Given the description of an element on the screen output the (x, y) to click on. 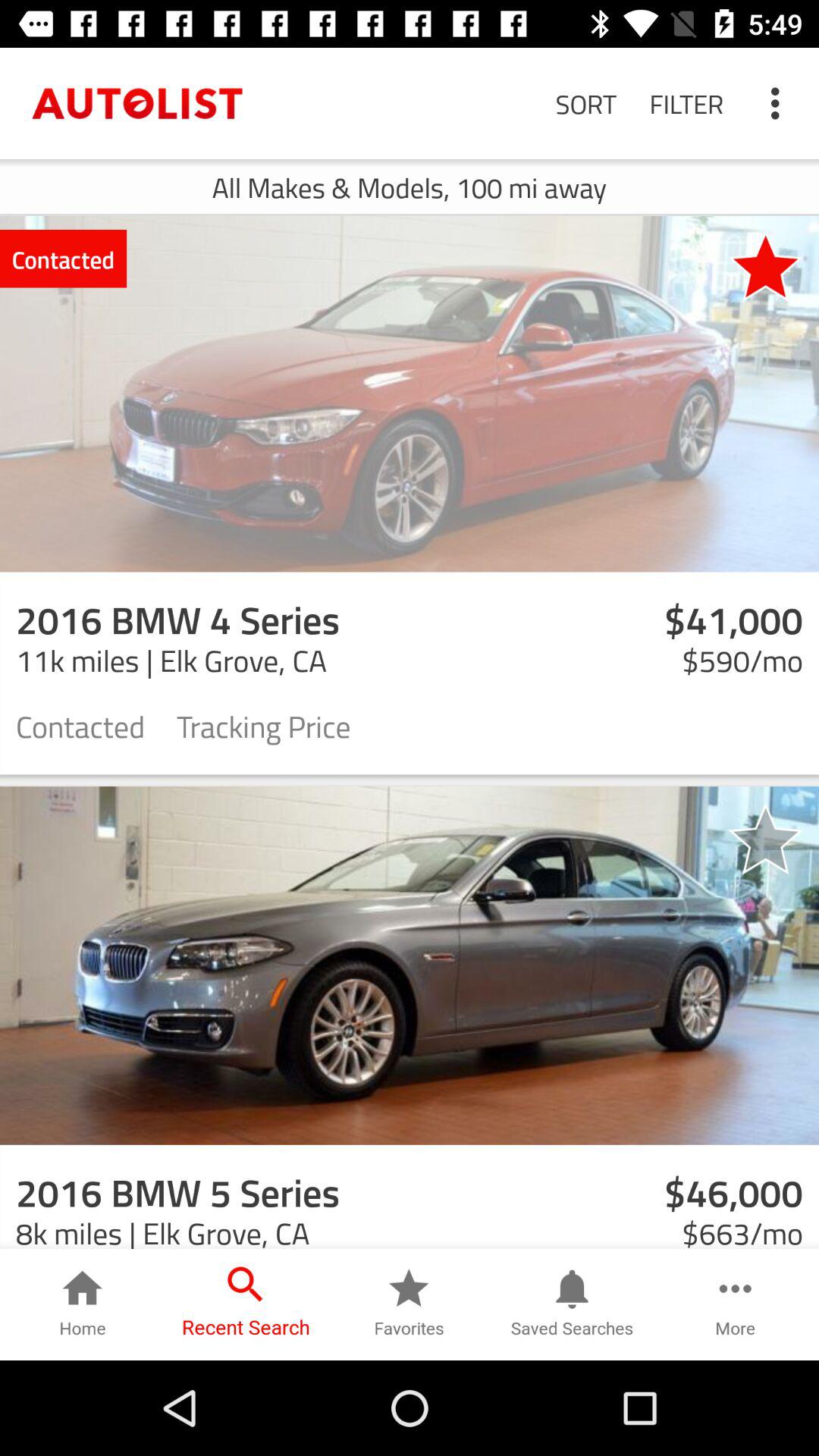
choose tracking price item (263, 725)
